Given the description of an element on the screen output the (x, y) to click on. 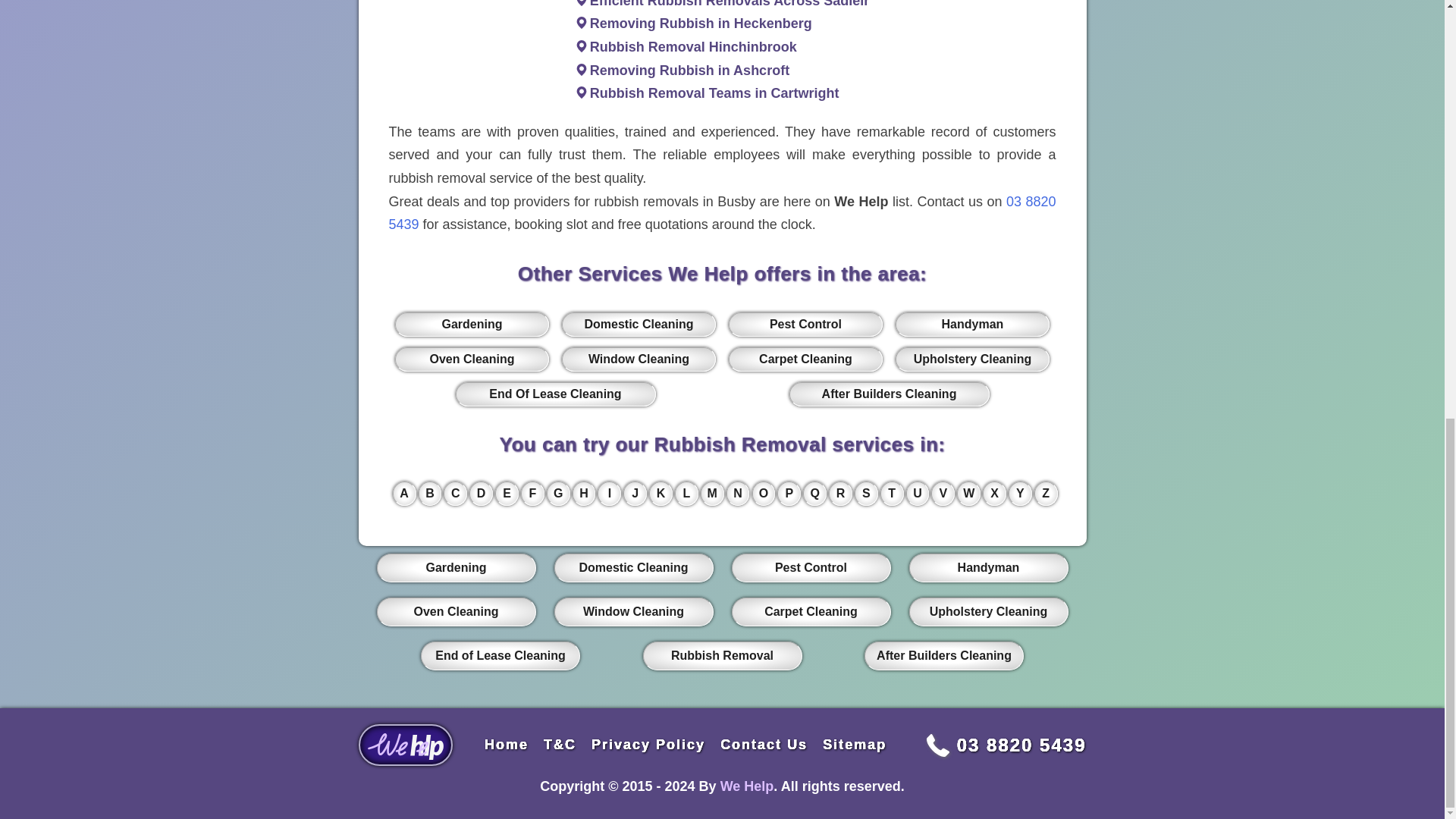
Oven Cleaning Busby 2168 (471, 359)
03 8820 5439 (721, 213)
Handyman Busby 2168 (971, 324)
Removing Rubbish in Heckenberg (700, 23)
Rubbish Removal Teams in Cartwright (714, 92)
Gardening Busby 2168 (471, 324)
After Builders Cleaning (888, 394)
Rubbish Removal Hinchinbrook (692, 46)
Upholstery Cleaning (971, 359)
Pest Control (805, 324)
Removing Rubbish in Ashcroft (689, 70)
Domestic Cleaning (638, 324)
Window Cleaning Busby 2168 (638, 359)
Window Cleaning (638, 359)
Removing Rubbish in Ashcroft (689, 70)
